Given the description of an element on the screen output the (x, y) to click on. 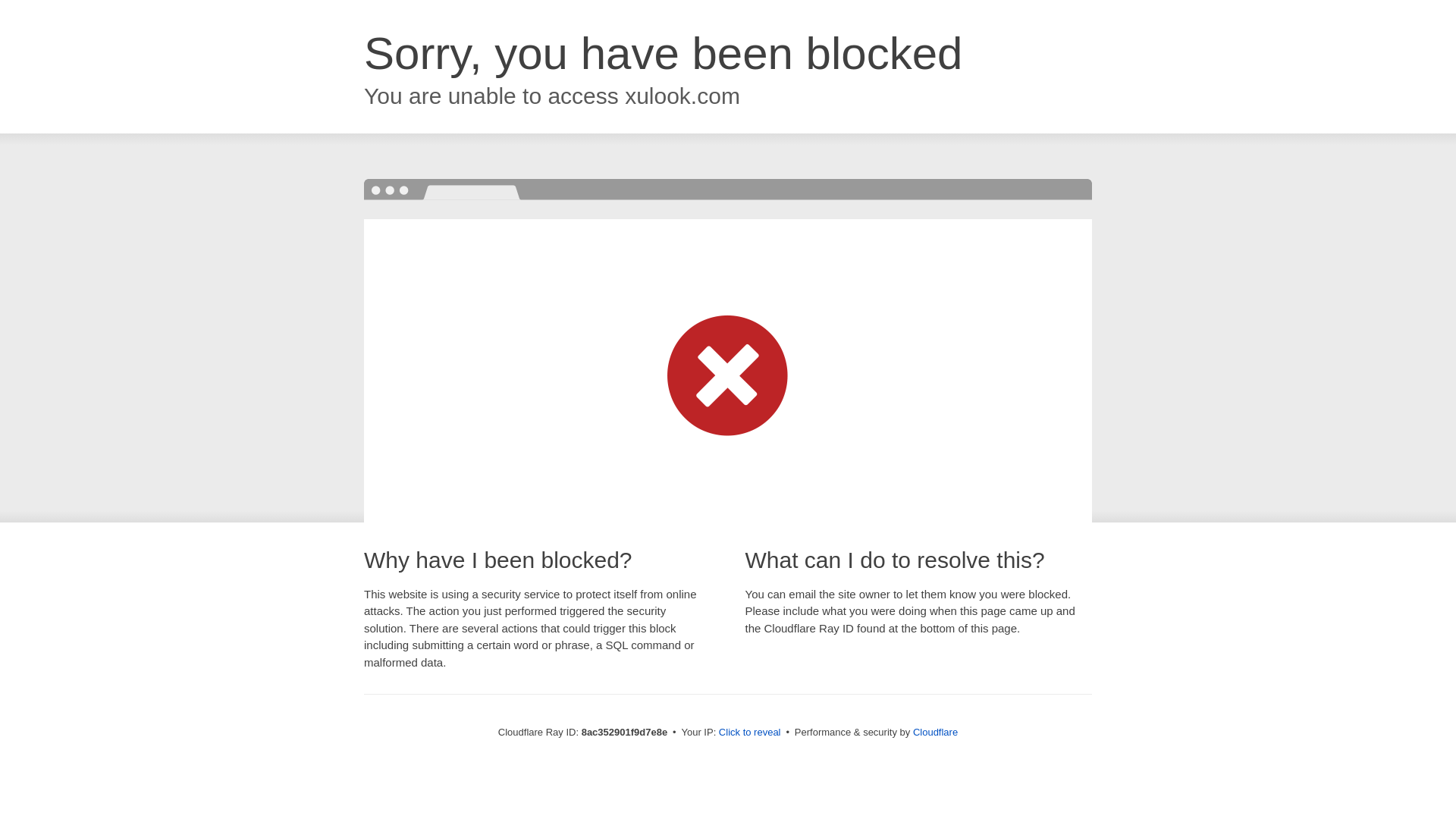
Click to reveal (749, 732)
Cloudflare (935, 731)
